Given the description of an element on the screen output the (x, y) to click on. 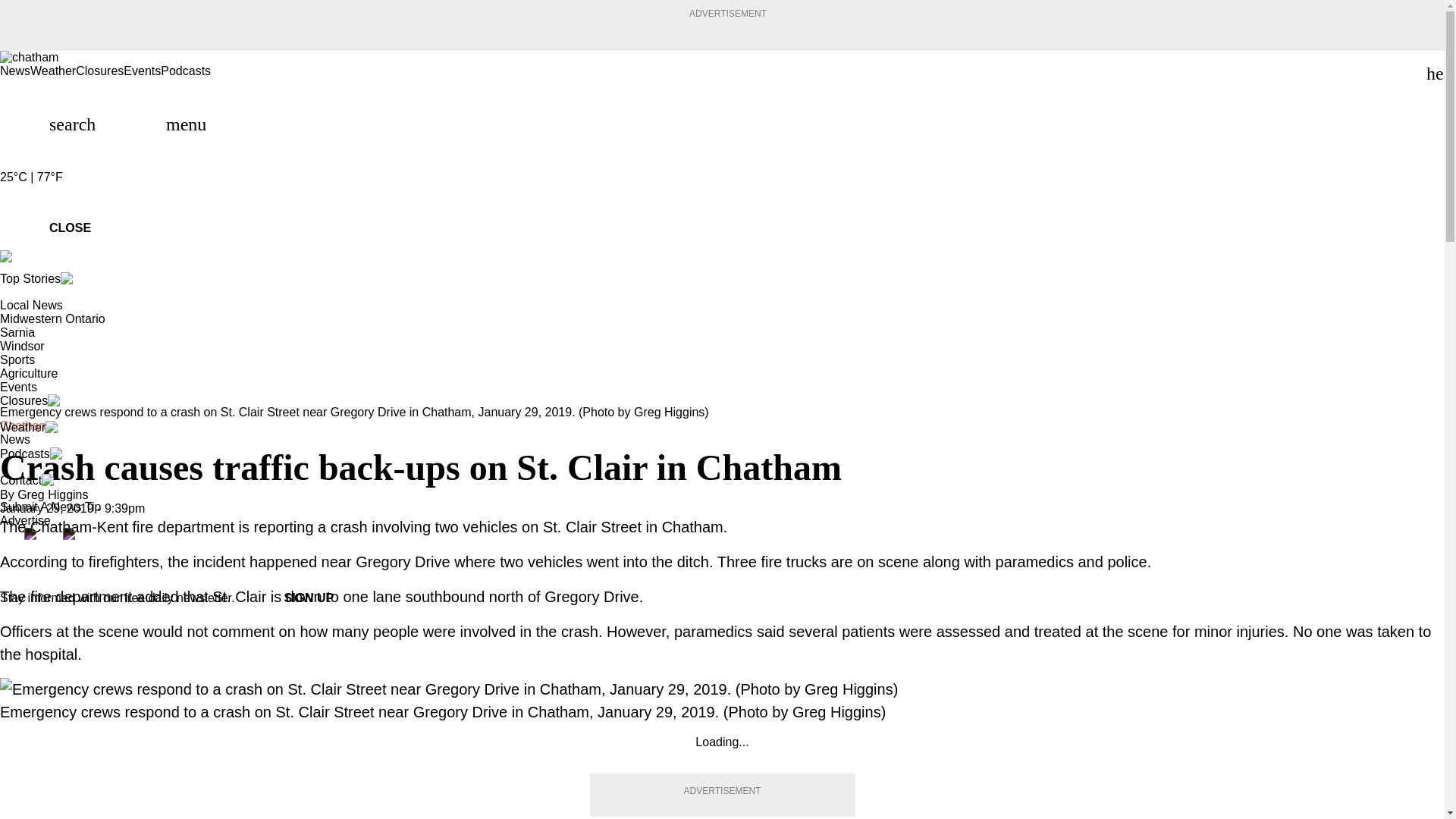
Closures (99, 70)
CLOSE (70, 228)
Chatham (24, 425)
search (58, 124)
News (15, 70)
menu (175, 124)
SIGN UP (308, 598)
News (15, 439)
Weather (52, 70)
Events (141, 70)
